Given the description of an element on the screen output the (x, y) to click on. 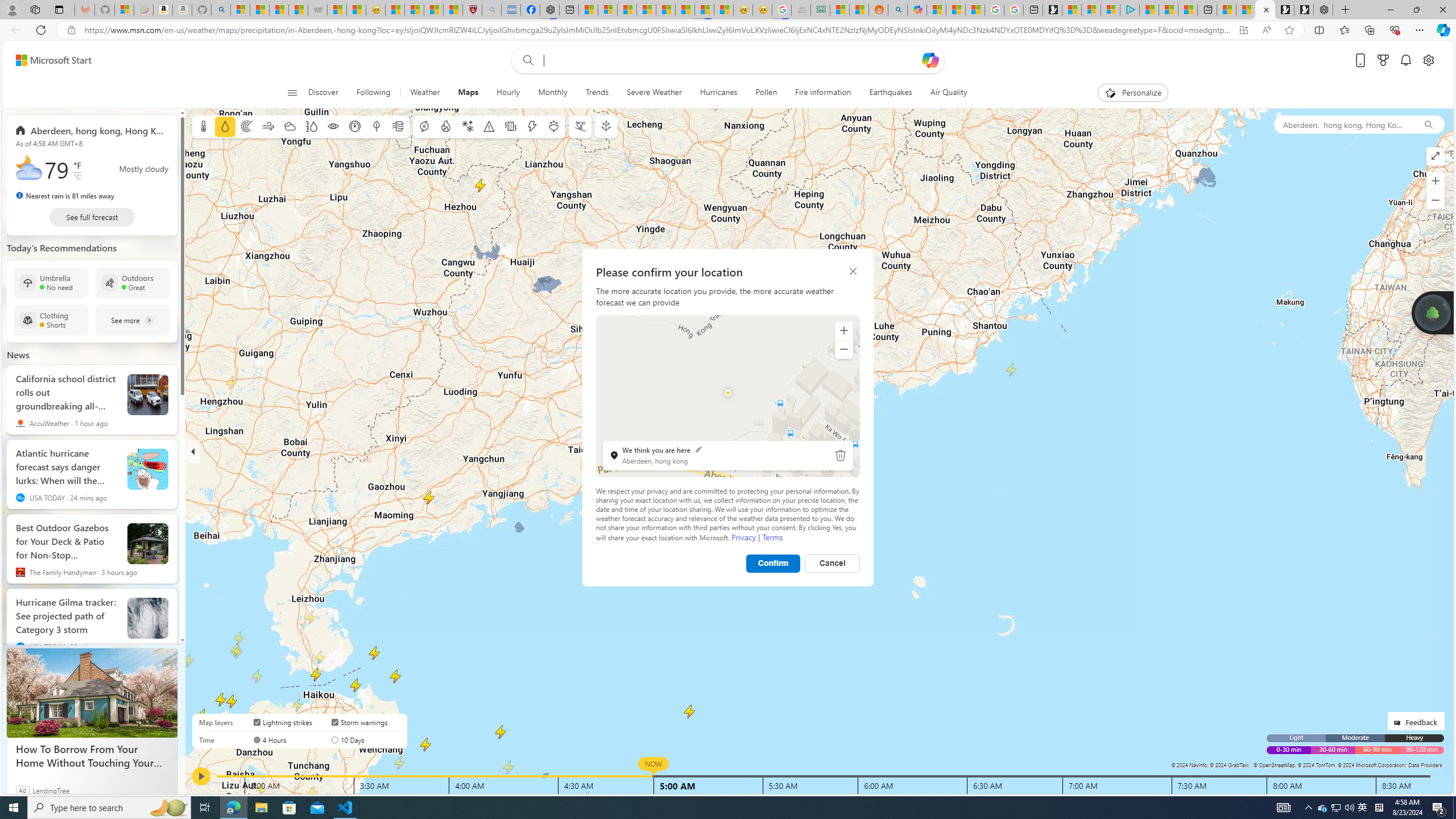
Join us in planting real trees to help our planet! (1431, 311)
Fire information (445, 126)
E-tree (605, 126)
Personal Profile (12, 9)
Hide (192, 450)
Visibility (333, 126)
Cancel (832, 562)
Class: button-glyph (292, 92)
Microsoft rewards (1382, 60)
Trends (597, 92)
